Given the description of an element on the screen output the (x, y) to click on. 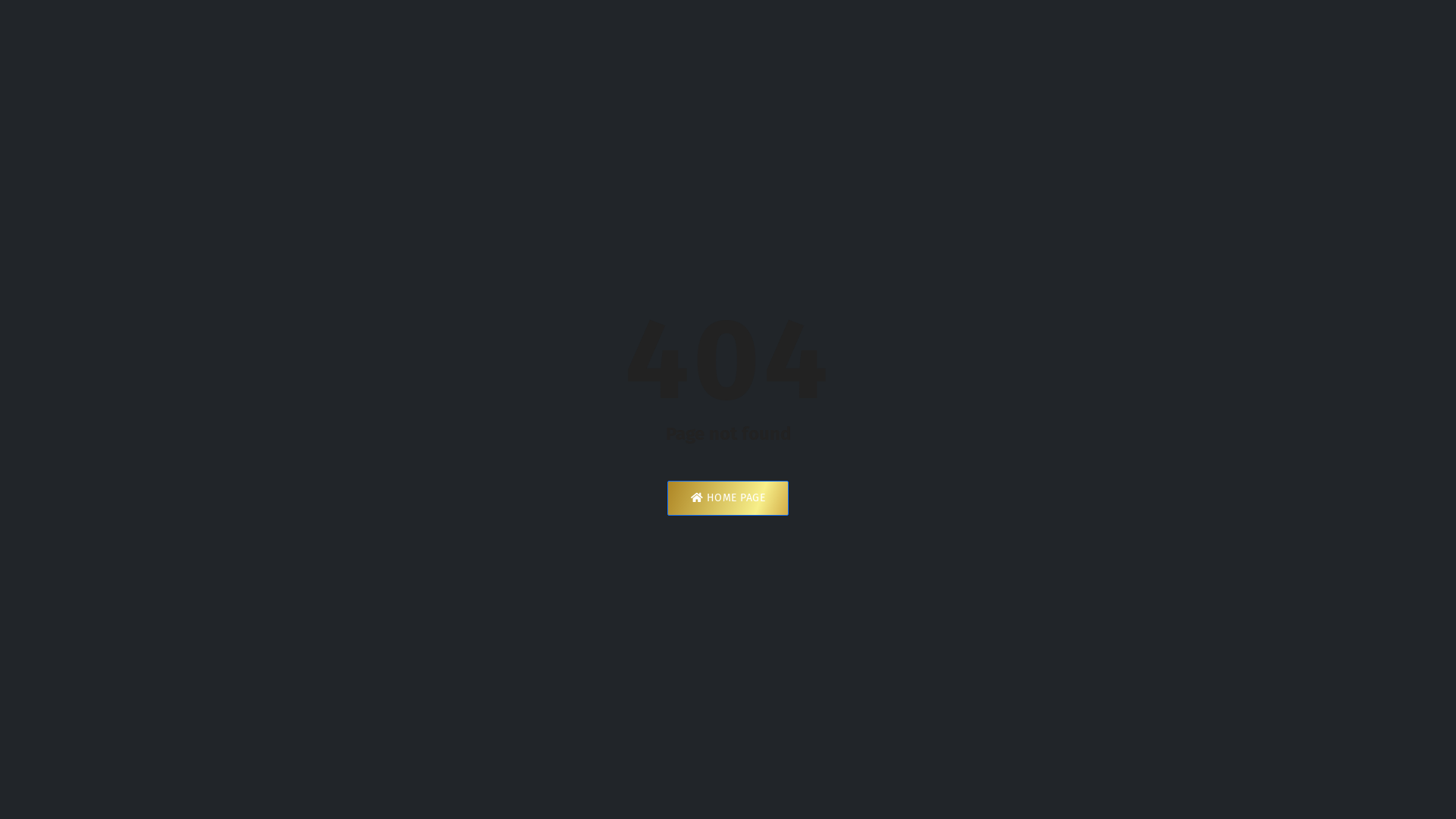
HOME PAGE Element type: text (728, 497)
